Given the description of an element on the screen output the (x, y) to click on. 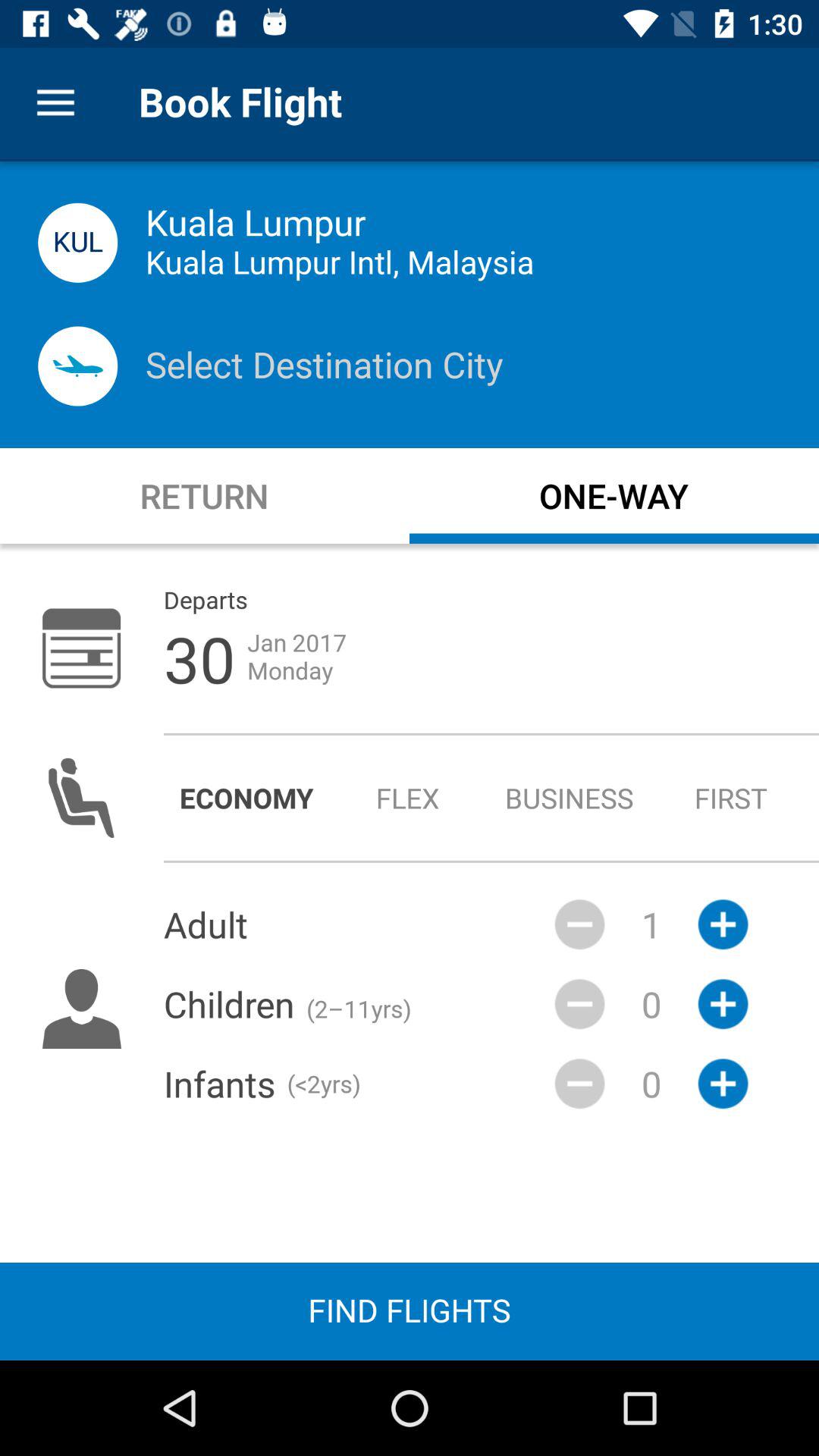
tap business item (569, 797)
